Given the description of an element on the screen output the (x, y) to click on. 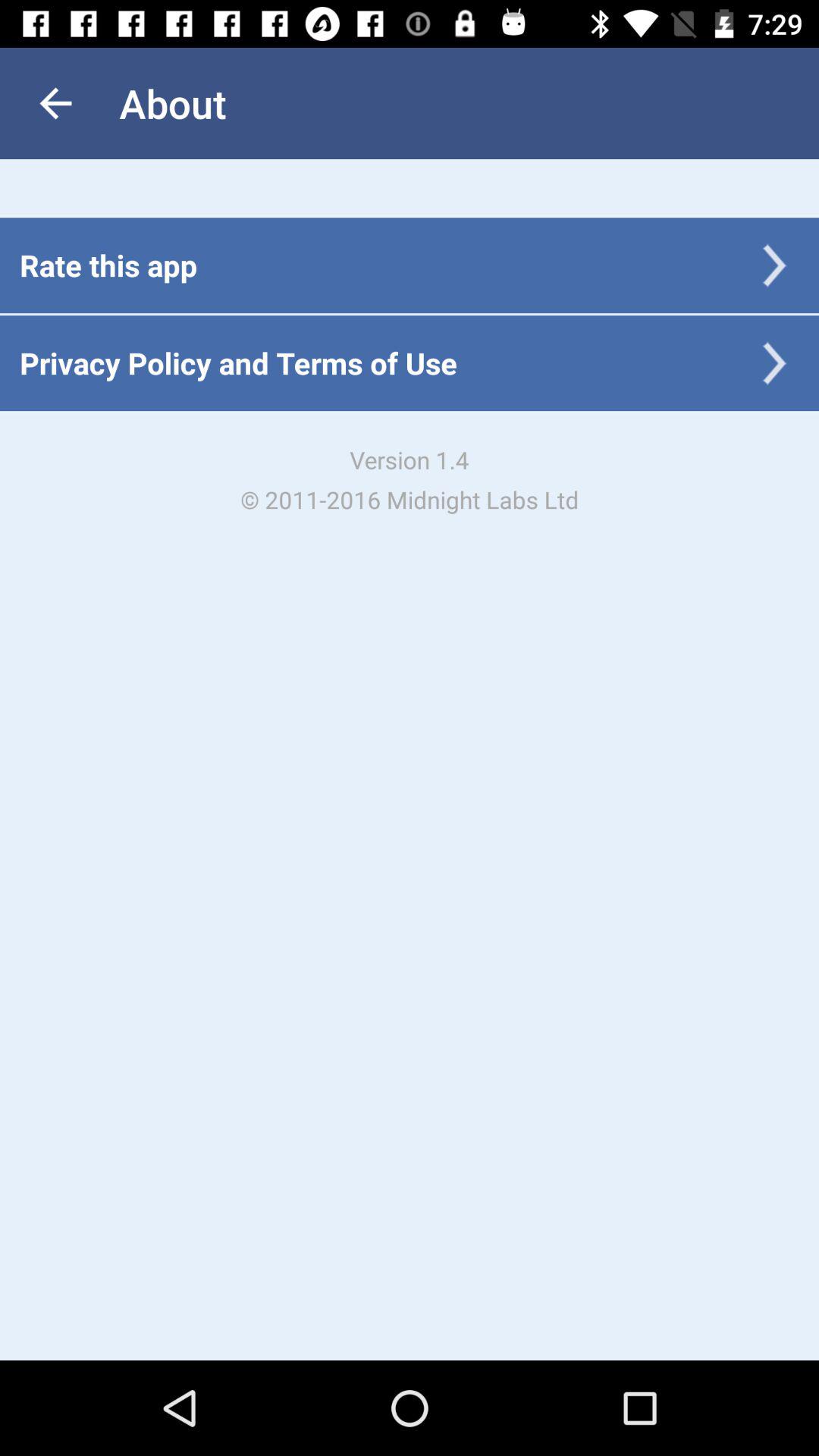
press the rate this app icon (108, 265)
